Given the description of an element on the screen output the (x, y) to click on. 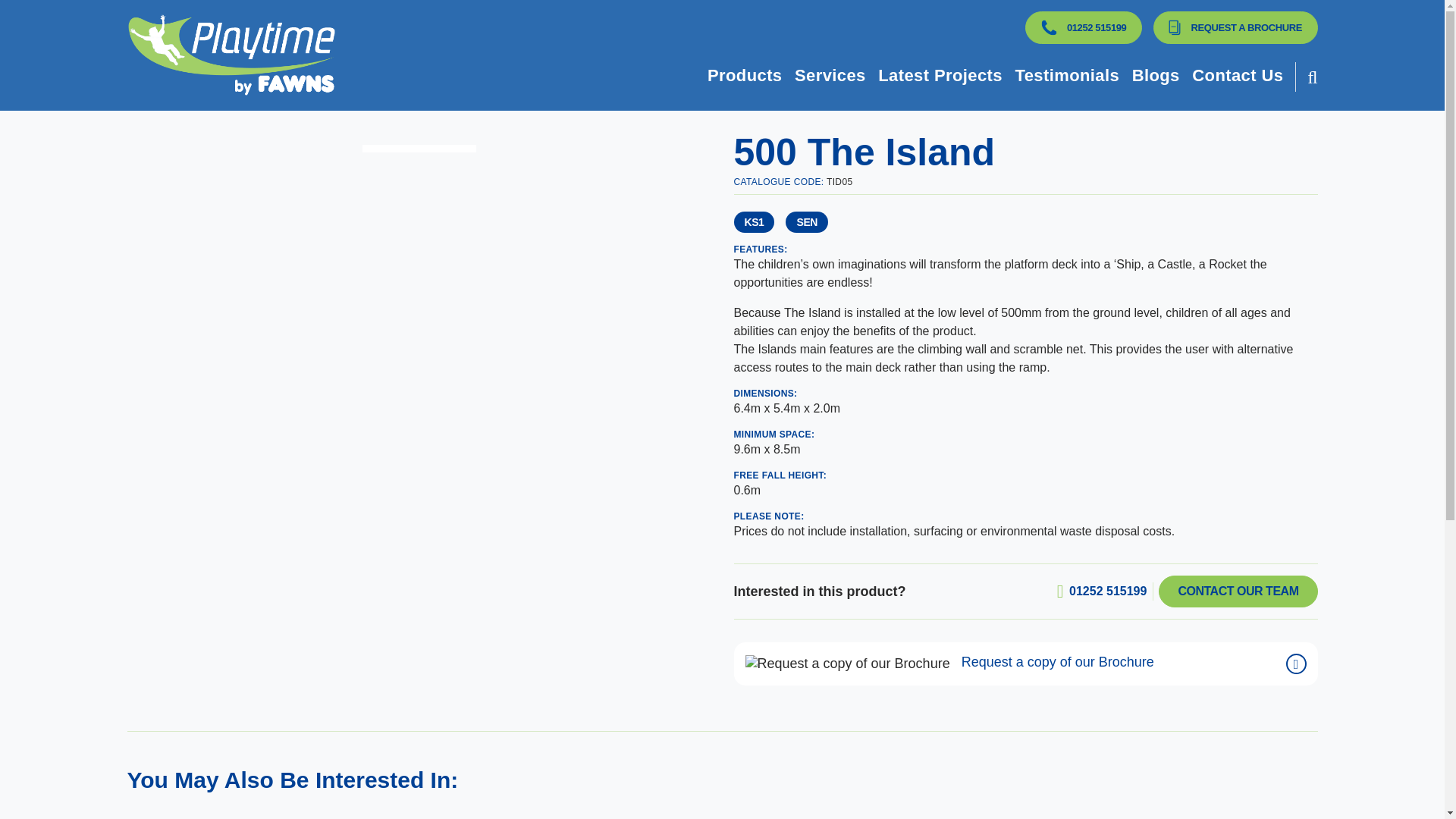
Got to homepage (414, 54)
01252 515199 (1049, 27)
Playtime By Fawns logo (232, 54)
Playtime By Fawns (414, 54)
Products (745, 76)
REQUEST A BROCHURE (1235, 27)
Products (745, 76)
01252 515199 (1083, 27)
